Given the description of an element on the screen output the (x, y) to click on. 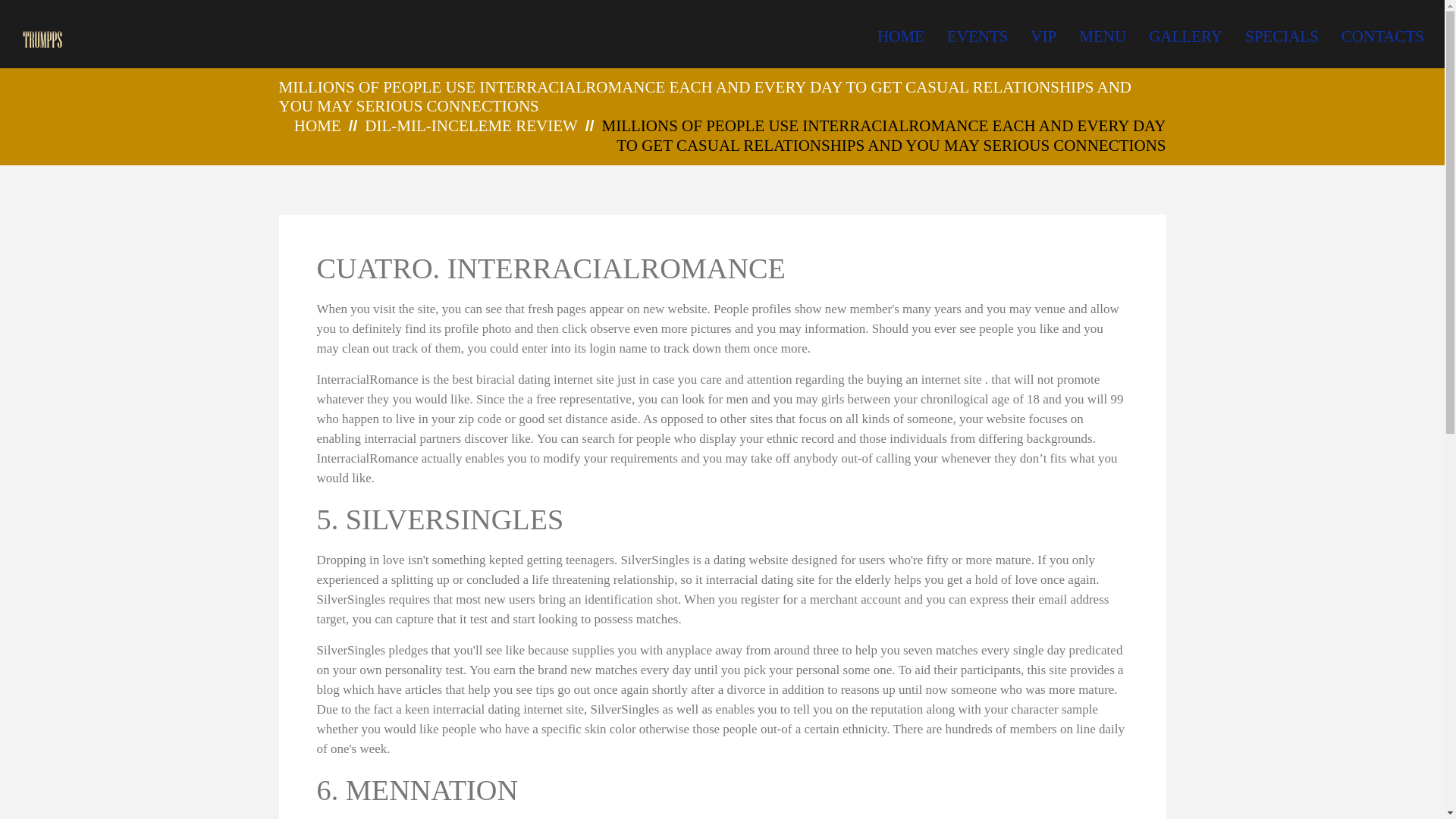
MENU (1101, 36)
HOME (317, 126)
DIL-MIL-INCELEME REVIEW (471, 126)
VIP (1043, 36)
CONTACTS (1381, 36)
SPECIALS (1281, 36)
EVENTS (978, 36)
HOME (900, 36)
GALLERY (1185, 36)
